Given the description of an element on the screen output the (x, y) to click on. 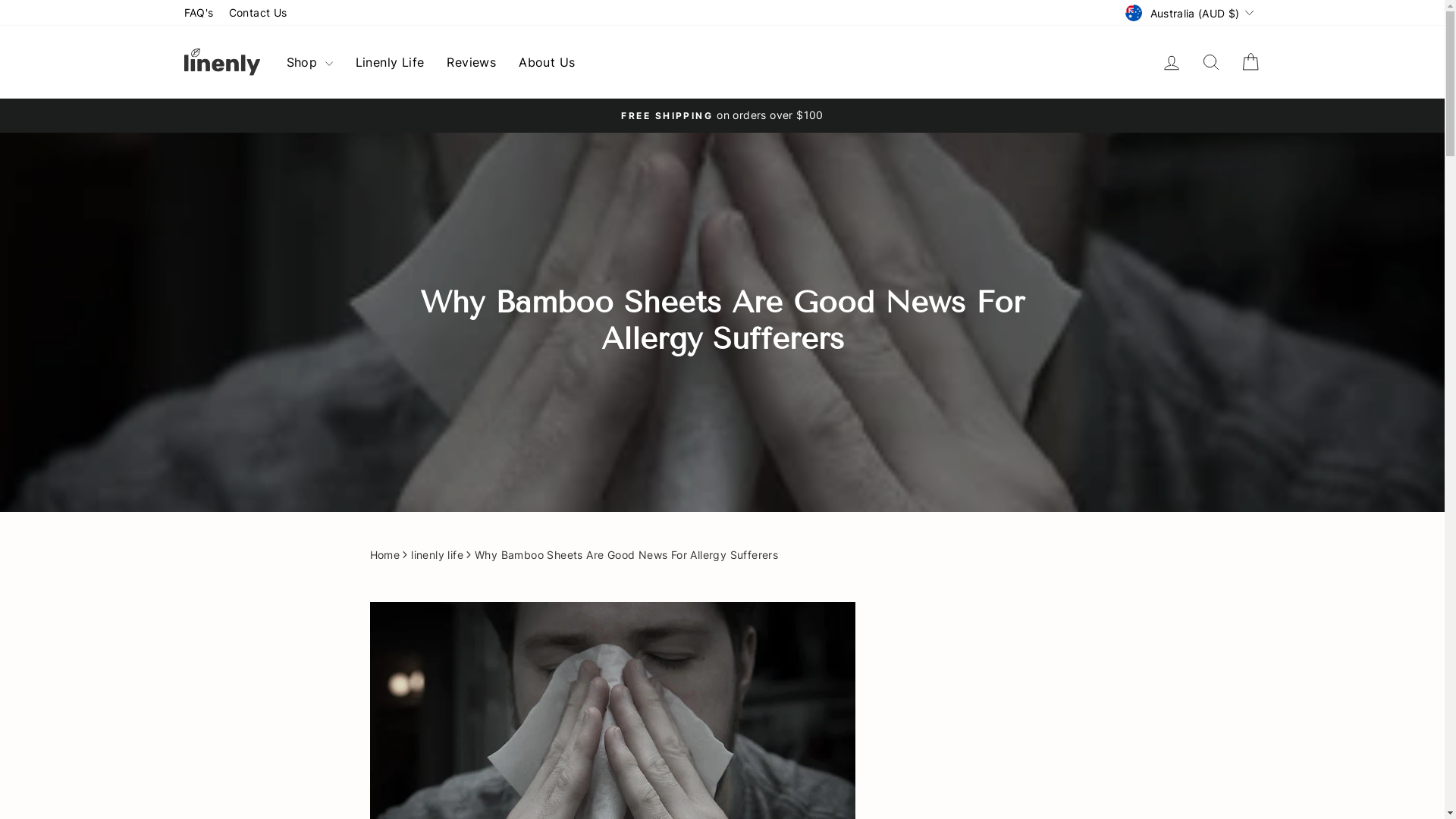
linenly life Element type: text (437, 555)
BLACK FRIDAY SALE EARLY ACCESSUp To 60% OFF Element type: text (722, 115)
FAQ's Element type: text (197, 12)
icon-search
Search Element type: text (1210, 62)
Australia (AUD $) Element type: text (1190, 12)
Home Element type: text (385, 555)
account
Log in Element type: text (1170, 62)
Reviews Element type: text (471, 62)
Linenly Life Element type: text (390, 62)
About Us Element type: text (546, 62)
Why Bamboo Sheets Are Good News For Allergy Sufferers Element type: text (626, 555)
Cart Element type: text (1249, 62)
Contact Us Element type: text (257, 12)
